Given the description of an element on the screen output the (x, y) to click on. 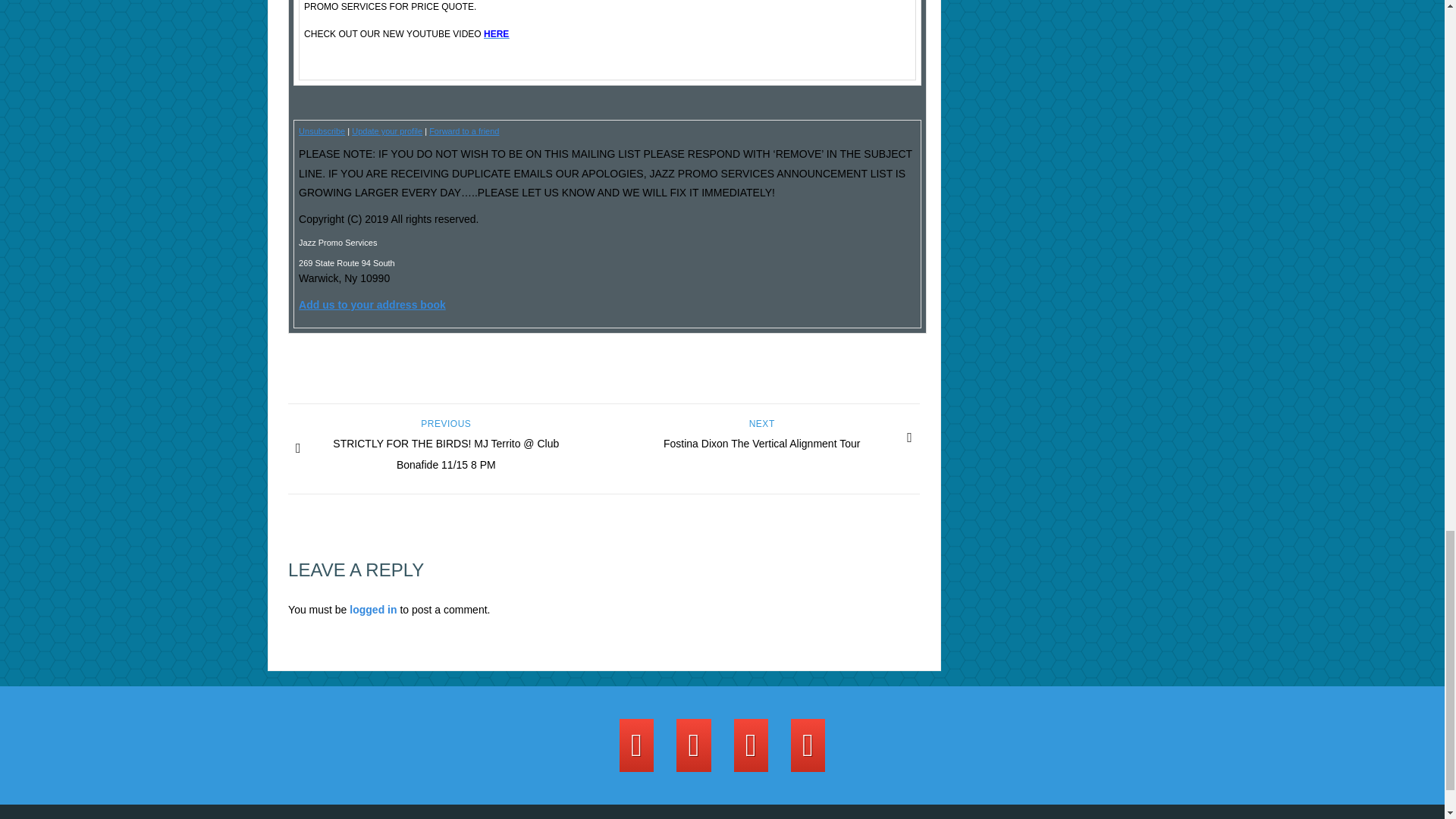
Unsubscribe (321, 130)
Add us to your address book (371, 304)
Update your profile (387, 130)
Forward to a friend (464, 130)
HERE (761, 438)
logged in (495, 33)
